Given the description of an element on the screen output the (x, y) to click on. 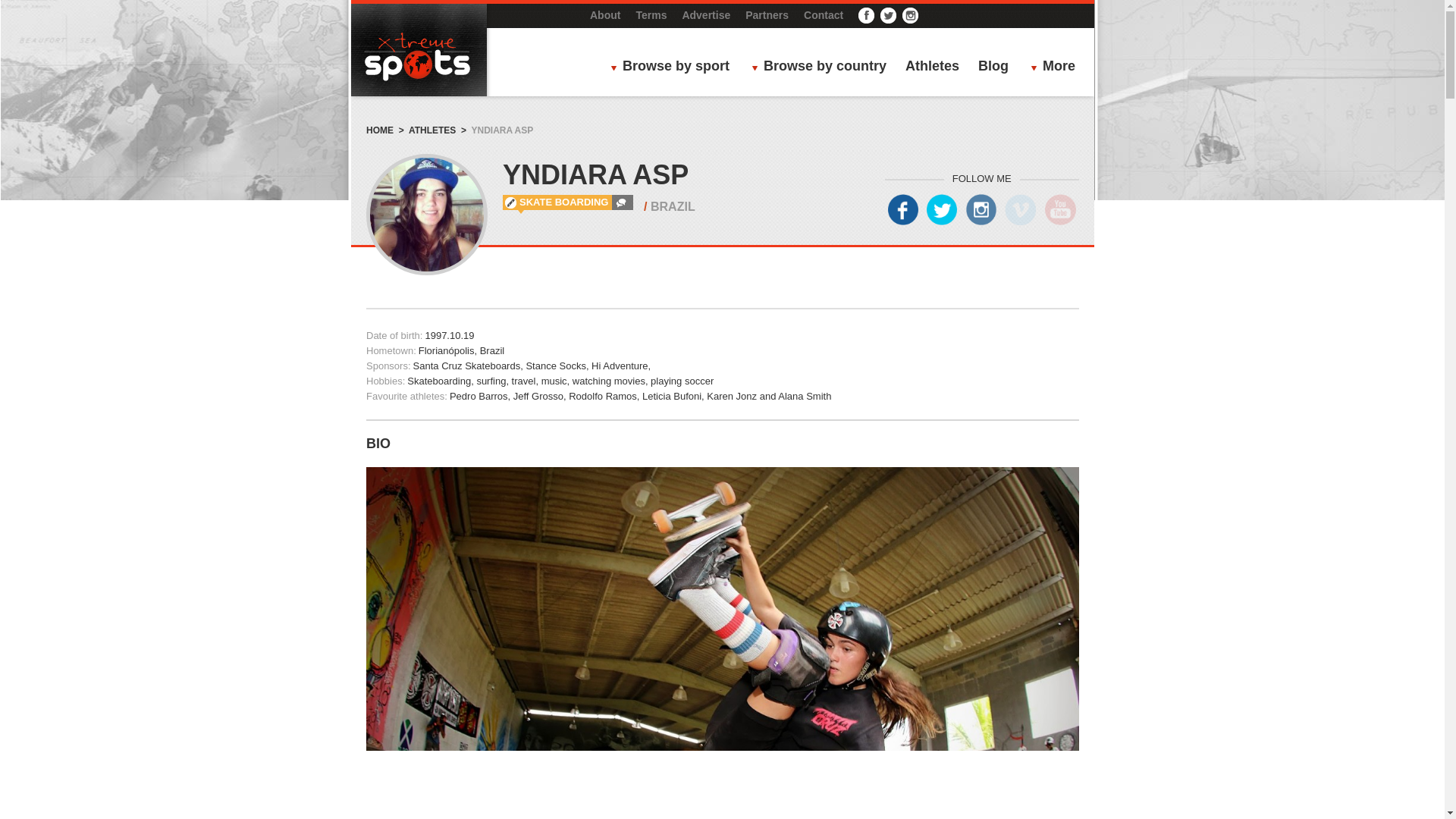
Blog (993, 67)
Partners (767, 15)
Advertise (705, 15)
More (1056, 67)
About (604, 15)
Contact (823, 15)
Athletes (932, 67)
HOME (379, 130)
SKATE BOARDING (563, 202)
Browse by country (823, 67)
